Given the description of an element on the screen output the (x, y) to click on. 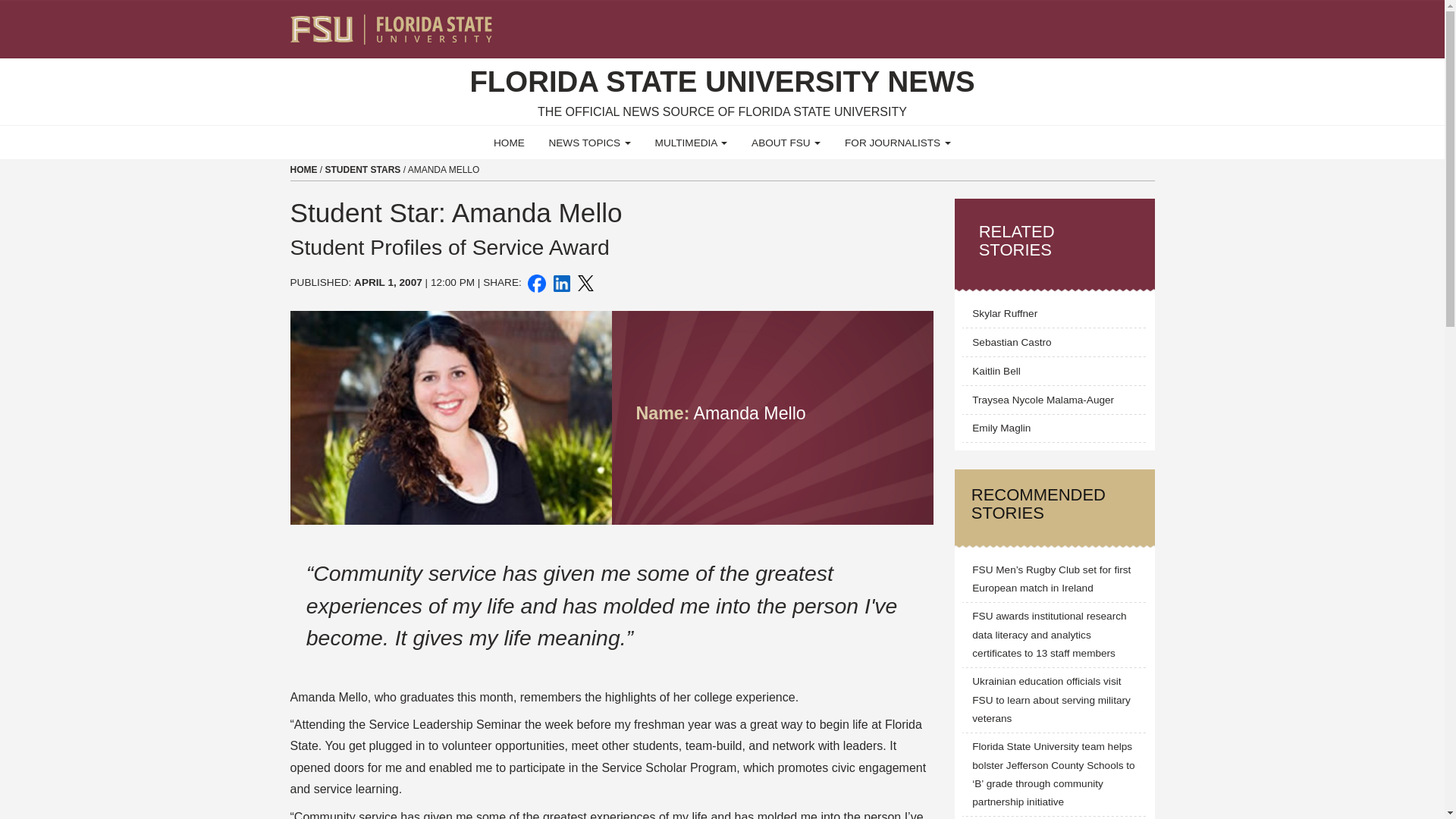
Navigation (1152, 23)
FSU Webmail (1112, 23)
Skip to content (5, 5)
